Given the description of an element on the screen output the (x, y) to click on. 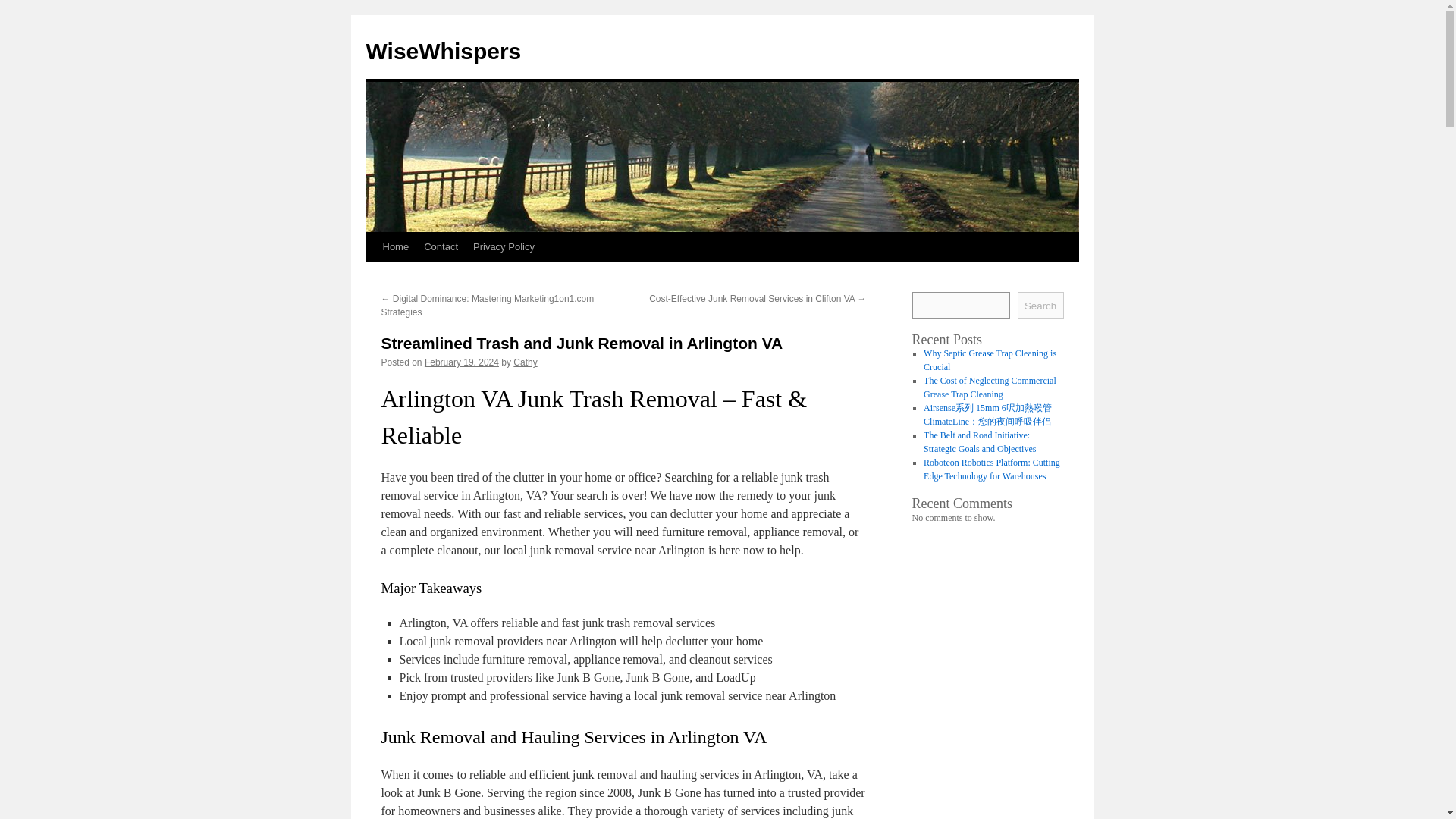
Search (1040, 305)
Cathy (525, 362)
Privacy Policy (503, 246)
Contact (440, 246)
February 19, 2024 (462, 362)
The Cost of Neglecting Commercial Grease Trap Cleaning (990, 387)
The Belt and Road Initiative: Strategic Goals and Objectives (979, 441)
Why Septic Grease Trap Cleaning is Crucial (990, 360)
Home (395, 246)
View all posts by Cathy (525, 362)
